Given the description of an element on the screen output the (x, y) to click on. 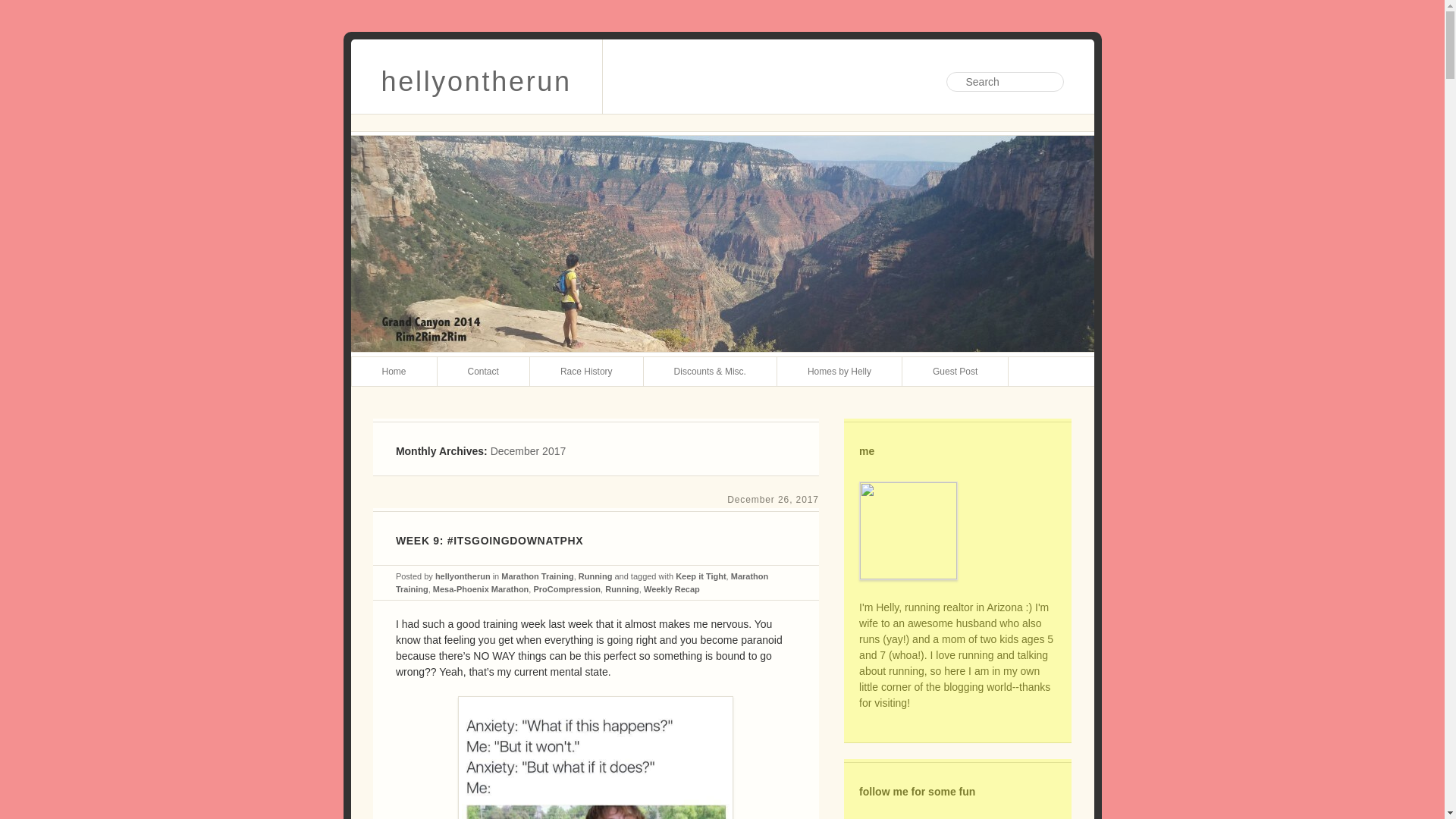
Homes by Helly (839, 371)
Mesa-Phoenix Marathon (480, 587)
hellyontherun (476, 76)
Keep it Tight (700, 575)
View all posts by hellyontherun (462, 575)
Search (22, 8)
hellyontherun (476, 76)
Marathon Training (582, 582)
Home (395, 371)
ProCompression (565, 587)
Guest Post (955, 371)
Race History (586, 371)
Contact (483, 371)
Weekly Recap (671, 587)
Running (595, 575)
